Given the description of an element on the screen output the (x, y) to click on. 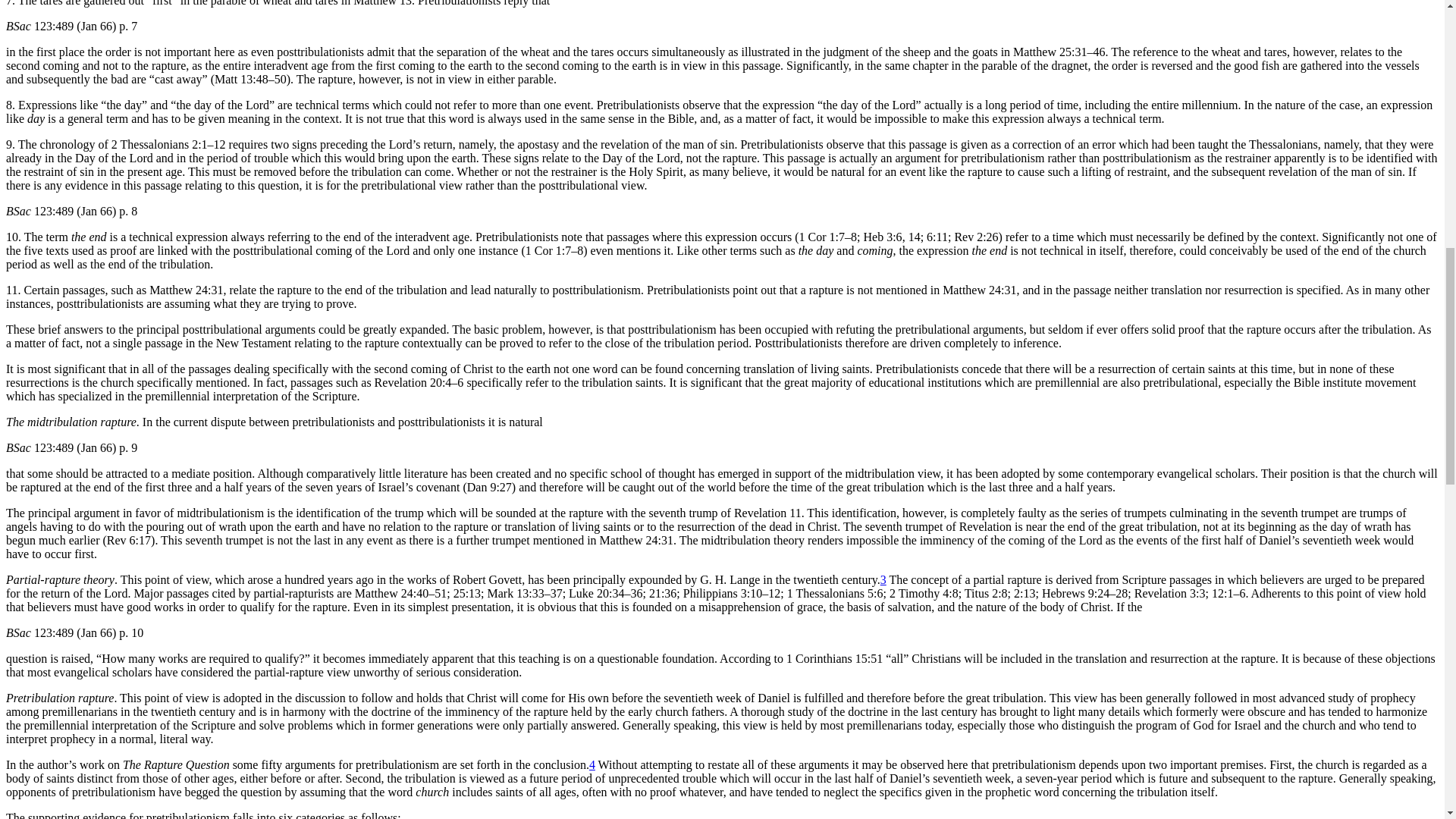
Rev 20:4-6 (419, 382)
Heb 3:14 (914, 236)
Da 9:27 (489, 486)
Mt 13 (382, 3)
Rev 6:17 (128, 540)
Rev 11 (767, 512)
Rev 2:26 (975, 236)
1Co 1:7-8 (828, 236)
Mt 25:31-46 (1059, 51)
Mt 13:48-50 (250, 78)
Mt 24:31 (979, 289)
Mt 24:31 (185, 289)
2Th 2:1-12 (168, 144)
Mt 24:31 (635, 540)
1Co 1:7-8 (554, 250)
